Given the description of an element on the screen output the (x, y) to click on. 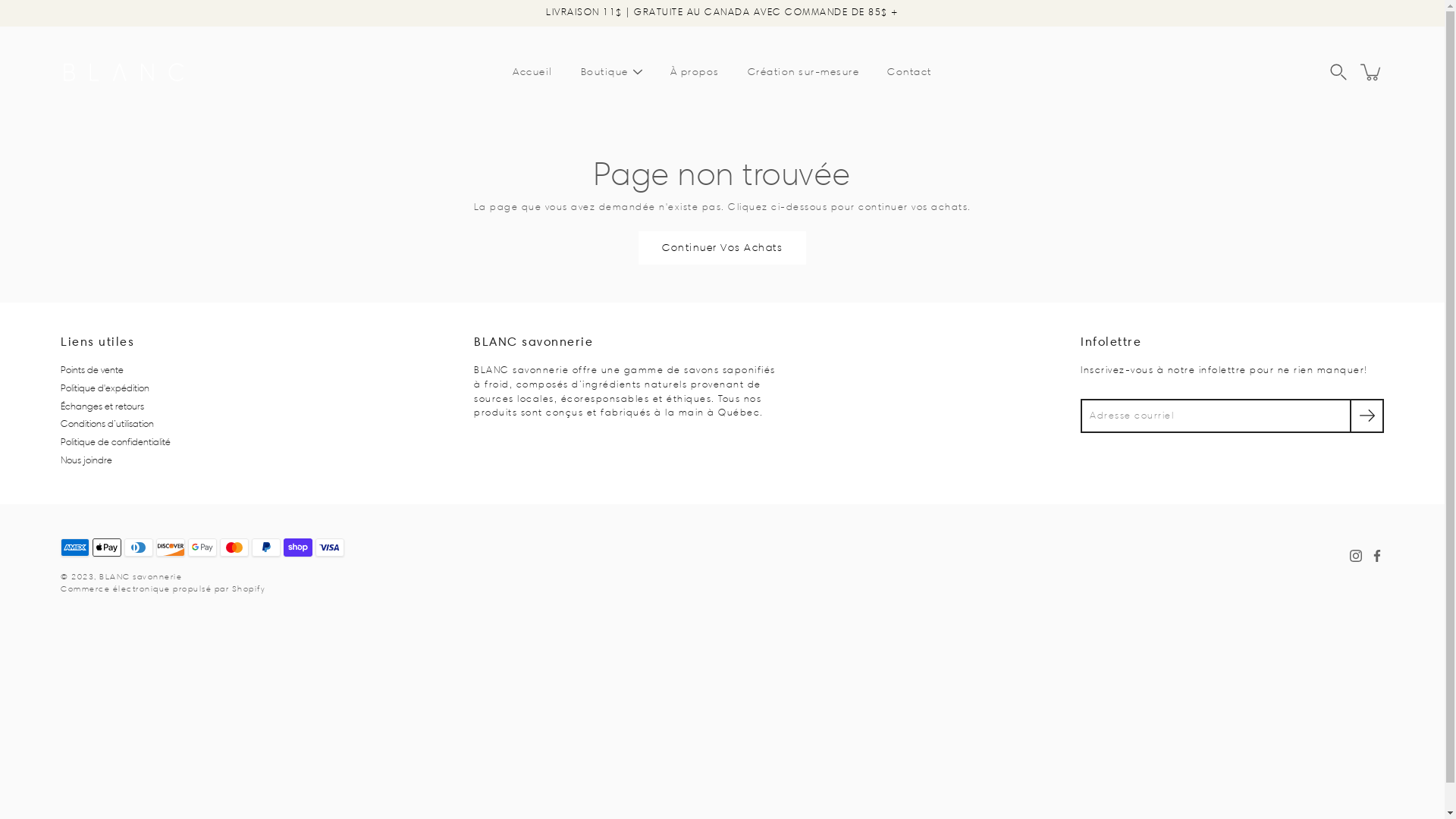
Facebook Element type: text (1376, 555)
Nous joindre Element type: text (86, 460)
Points de vente Element type: text (91, 370)
Continuer Vos Achats Element type: text (722, 247)
Accueil Element type: text (532, 71)
Contact Element type: text (909, 71)
BLANC savonnerie Element type: text (140, 576)
Instagram Element type: text (1355, 555)
Boutique Element type: text (604, 71)
